Given the description of an element on the screen output the (x, y) to click on. 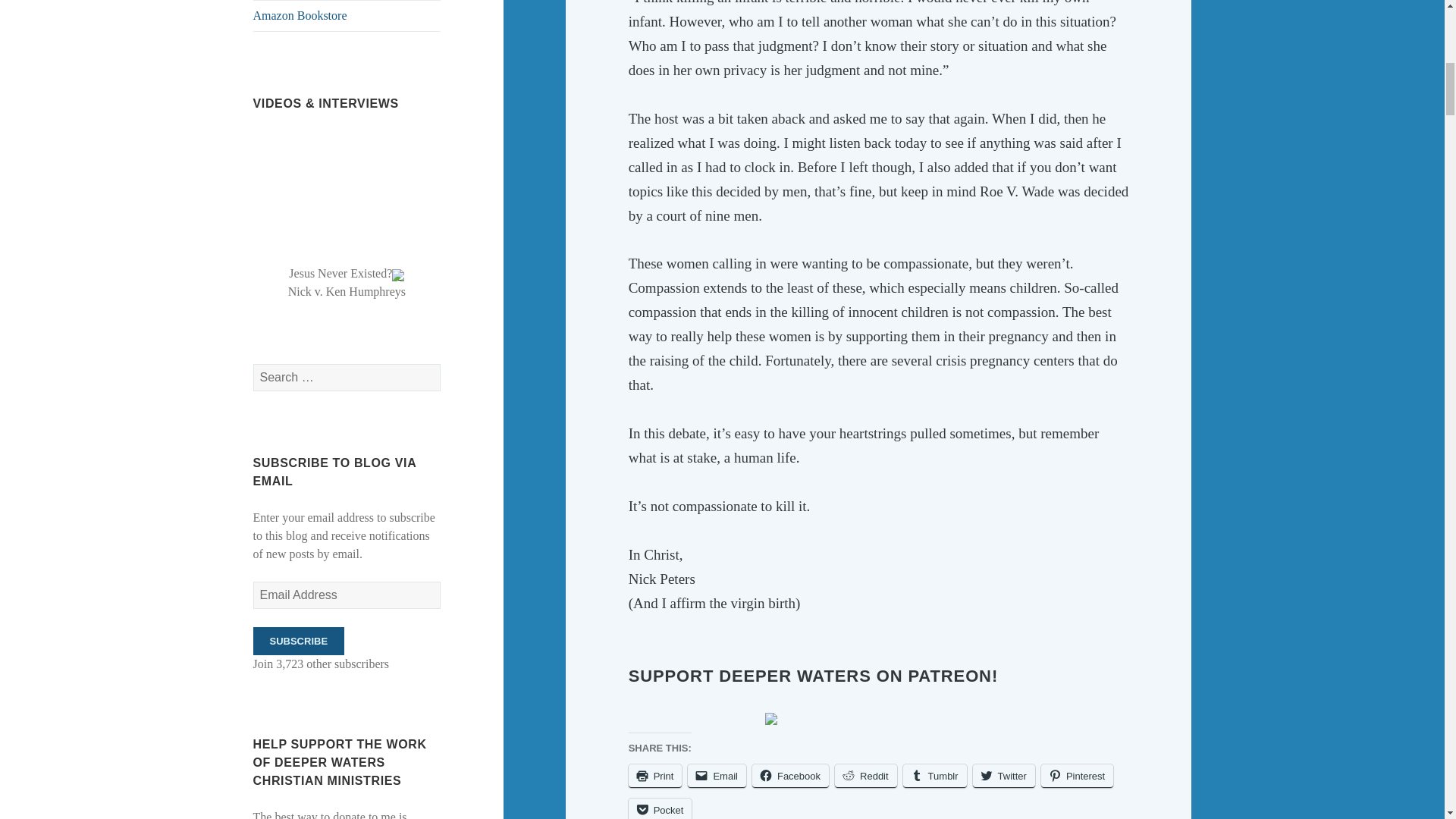
SUBSCRIBE (299, 641)
Click to share on Pinterest (1077, 775)
Click to share on Reddit (865, 775)
Amazon Bookstore (347, 15)
Click to share on Pocket (660, 808)
Click to share on Facebook (790, 775)
Click to print (655, 775)
Click to share on Twitter (1003, 775)
Click to share on Tumblr (934, 775)
Click to email a link to a friend (716, 775)
